Given the description of an element on the screen output the (x, y) to click on. 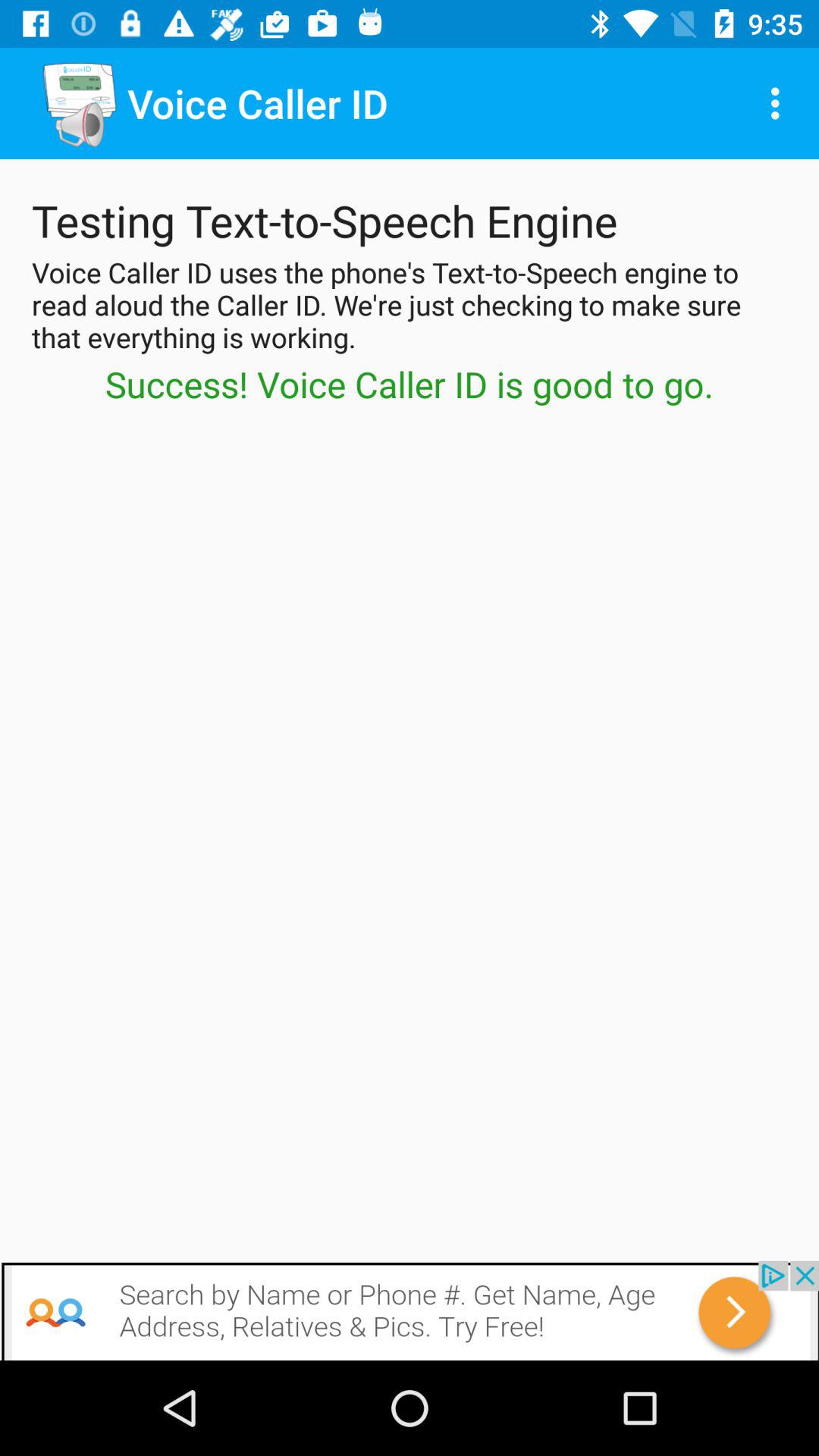
show advertisement (409, 1310)
